Given the description of an element on the screen output the (x, y) to click on. 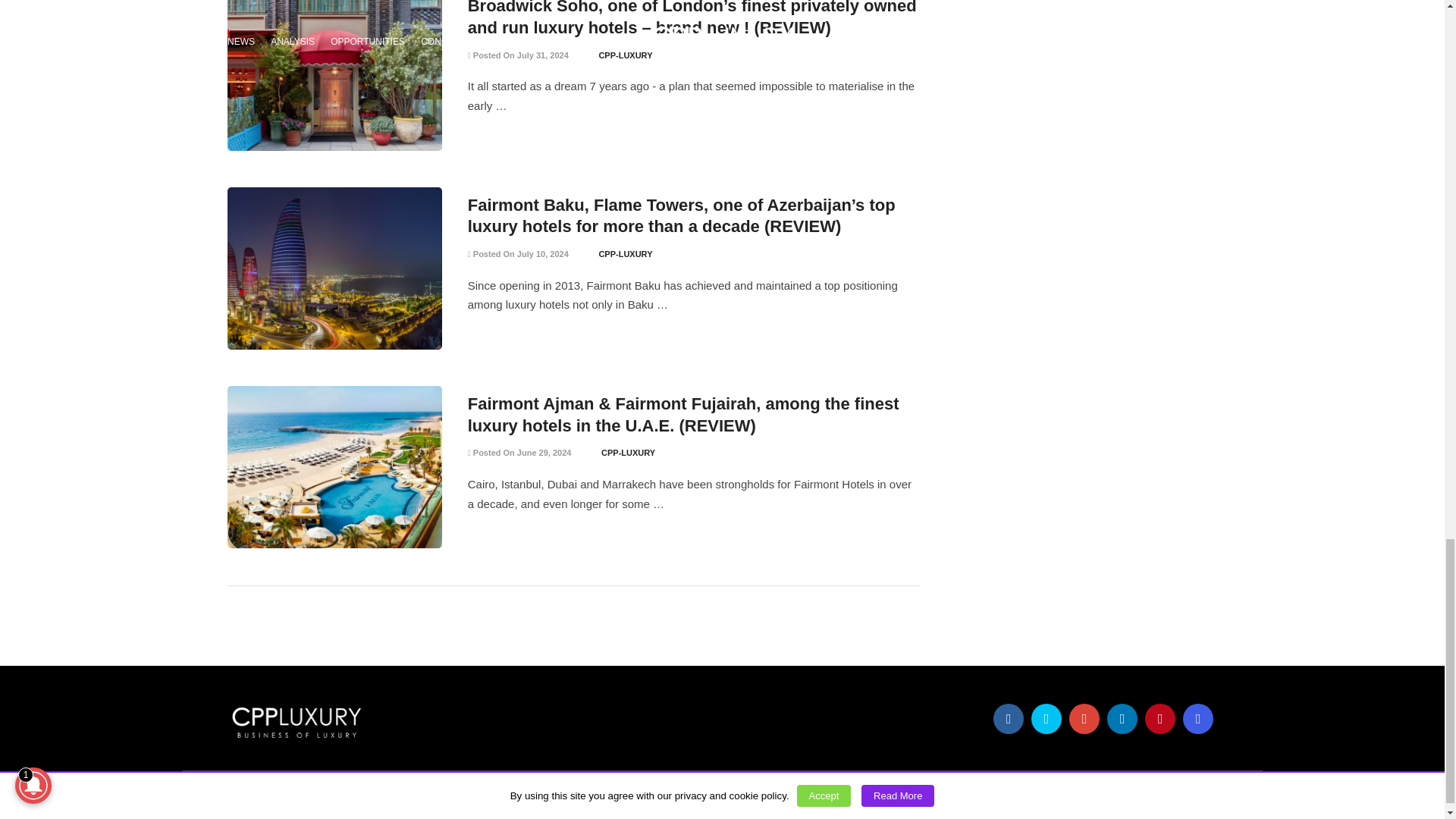
Posted On July 31, 2024 (518, 54)
CPP-LUXURY (625, 54)
